Given the description of an element on the screen output the (x, y) to click on. 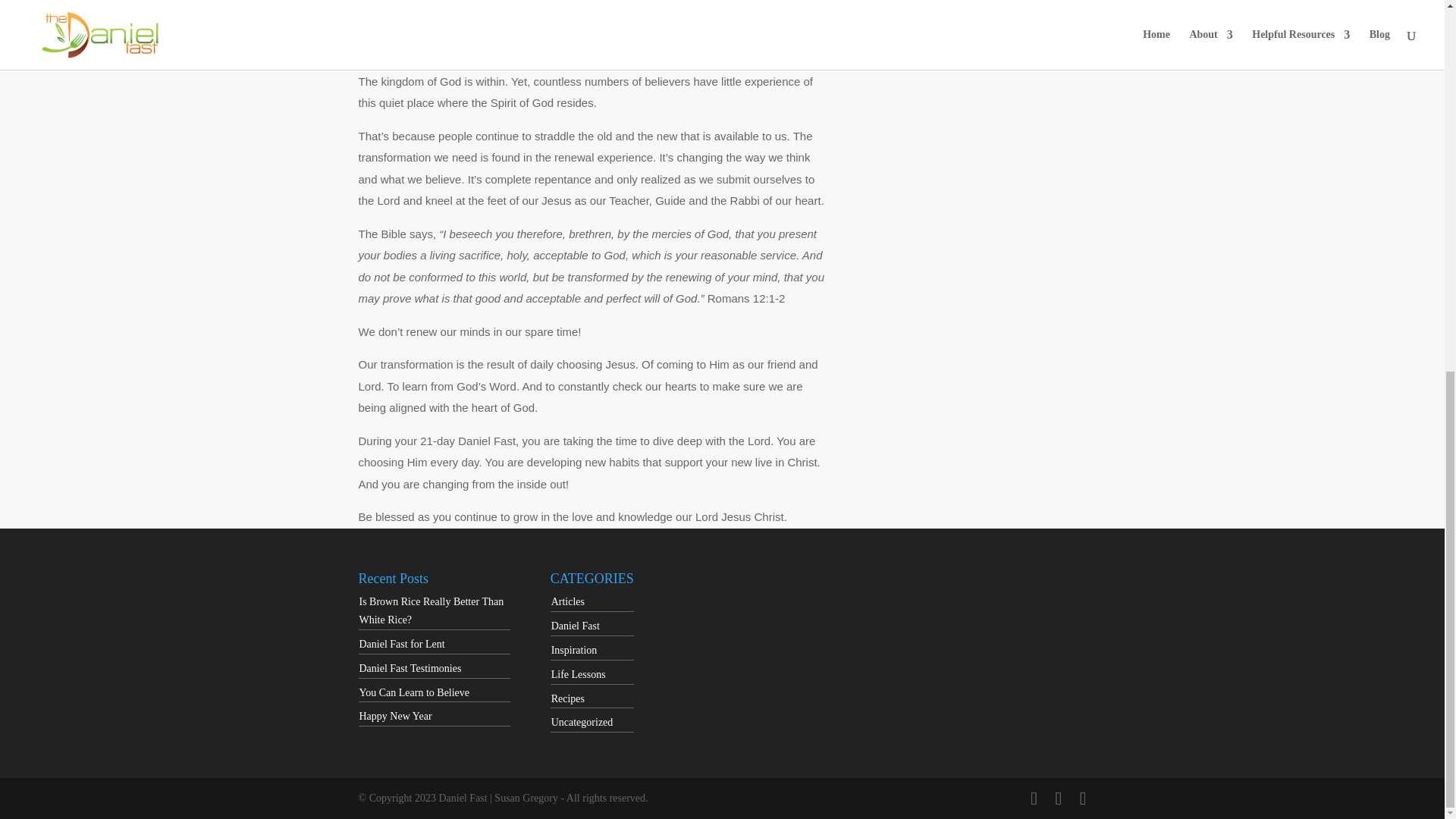
Inspiration (573, 650)
Happy New Year (395, 715)
Daniel Fast for Lent (402, 644)
Daniel Fast (575, 625)
Recipes (568, 698)
You Can Learn to Believe (414, 692)
Is Brown Rice Really Better Than White Rice? (431, 610)
Daniel Fast Testimonies (410, 668)
Articles (568, 601)
Uncategorized (581, 722)
